Given the description of an element on the screen output the (x, y) to click on. 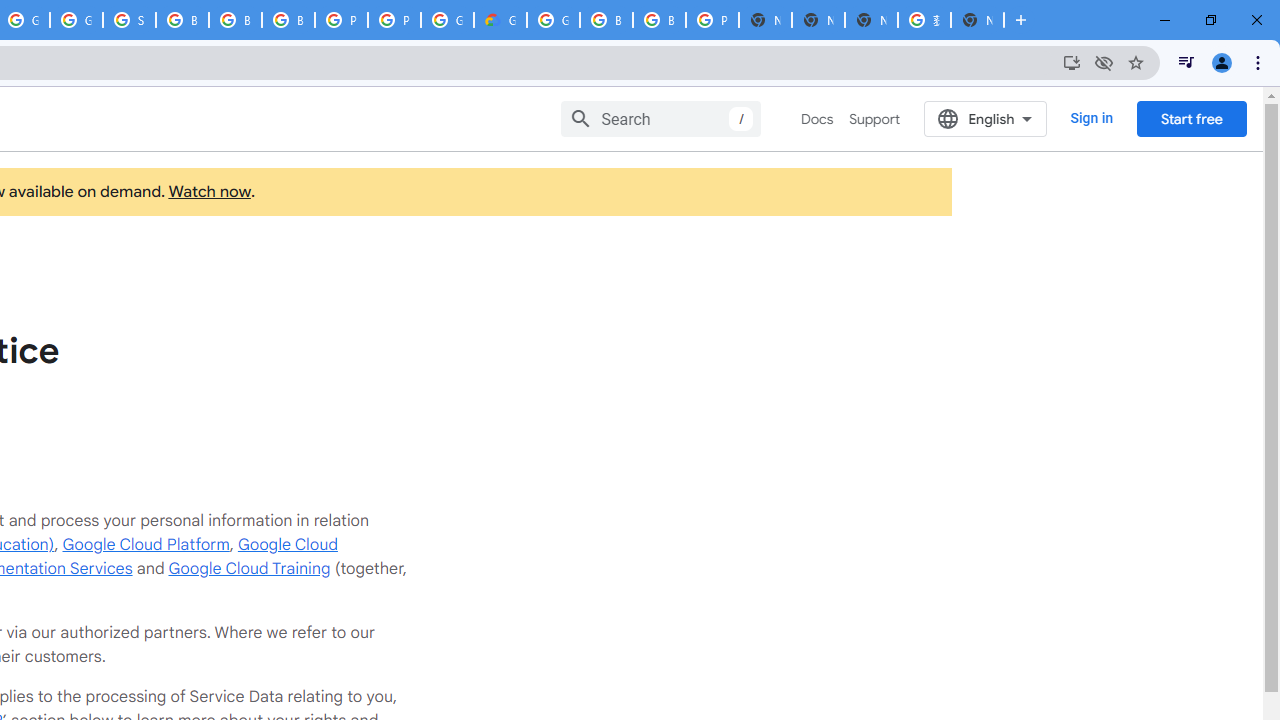
Browse Chrome as a guest - Computer - Google Chrome Help (659, 20)
Control your music, videos, and more (1185, 62)
Google Cloud Platform (553, 20)
Google Cloud Training (249, 568)
New Tab (977, 20)
Watch now (208, 192)
Install Google Cloud (1071, 62)
